Given the description of an element on the screen output the (x, y) to click on. 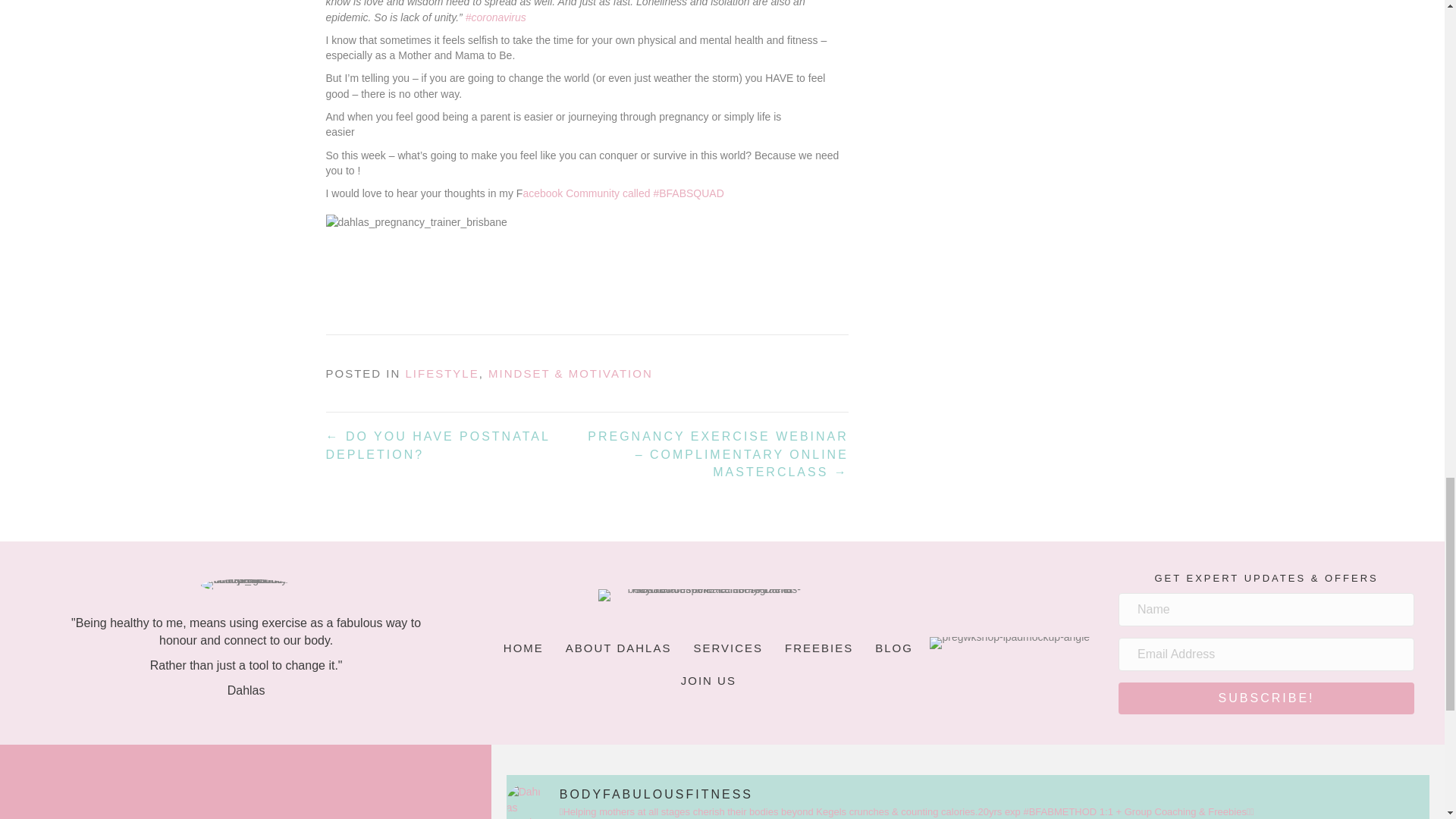
LIFESTYLE (442, 373)
dahlas-bfab-face (246, 585)
Main Logo - Charcoal (708, 594)
pregwkshop-ipadmockup-angle (1009, 643)
